Given the description of an element on the screen output the (x, y) to click on. 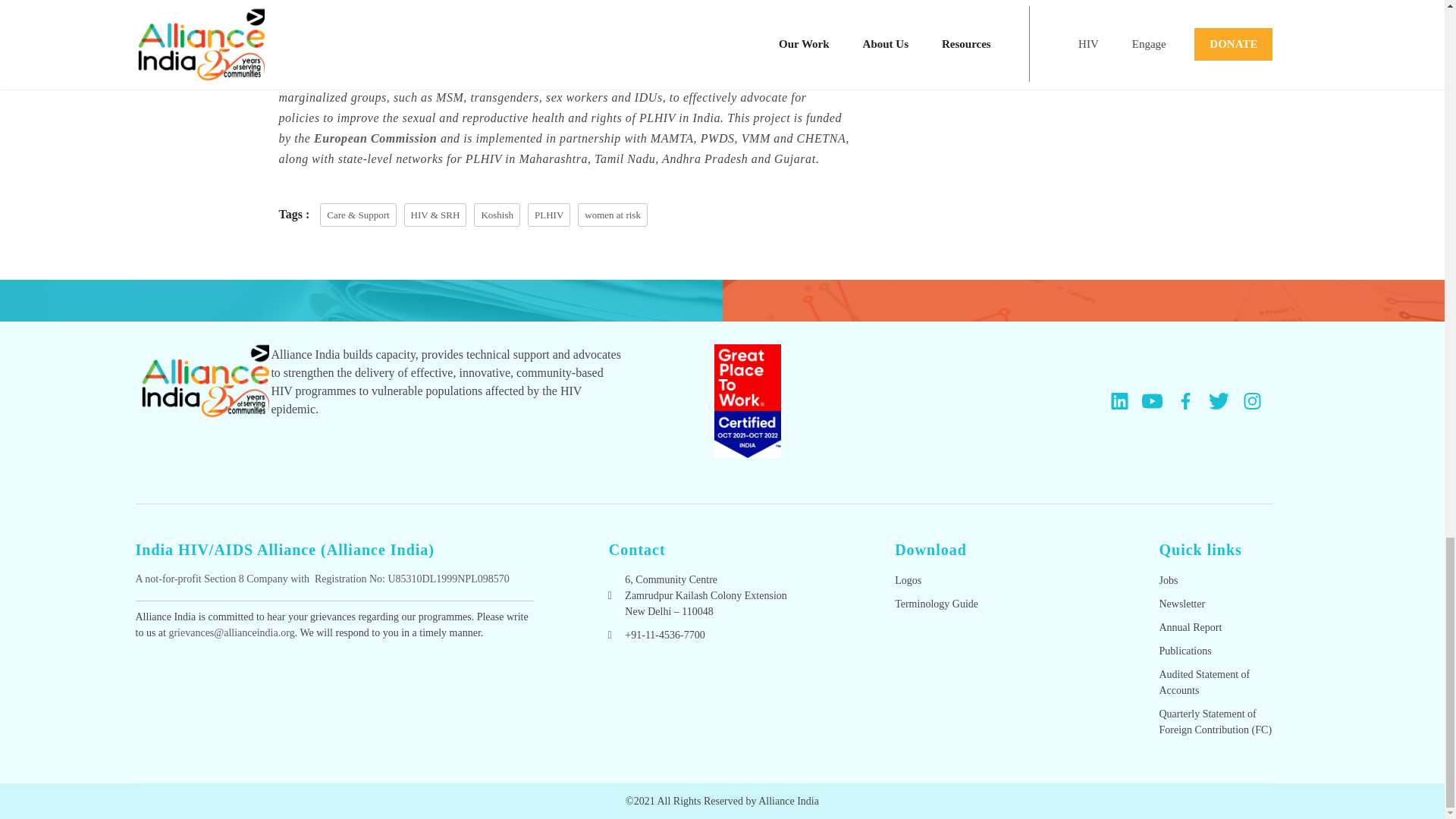
Koshish (688, 56)
Koshish (496, 214)
PLHIV (548, 214)
European Commission (377, 137)
women at risk (612, 214)
